Given the description of an element on the screen output the (x, y) to click on. 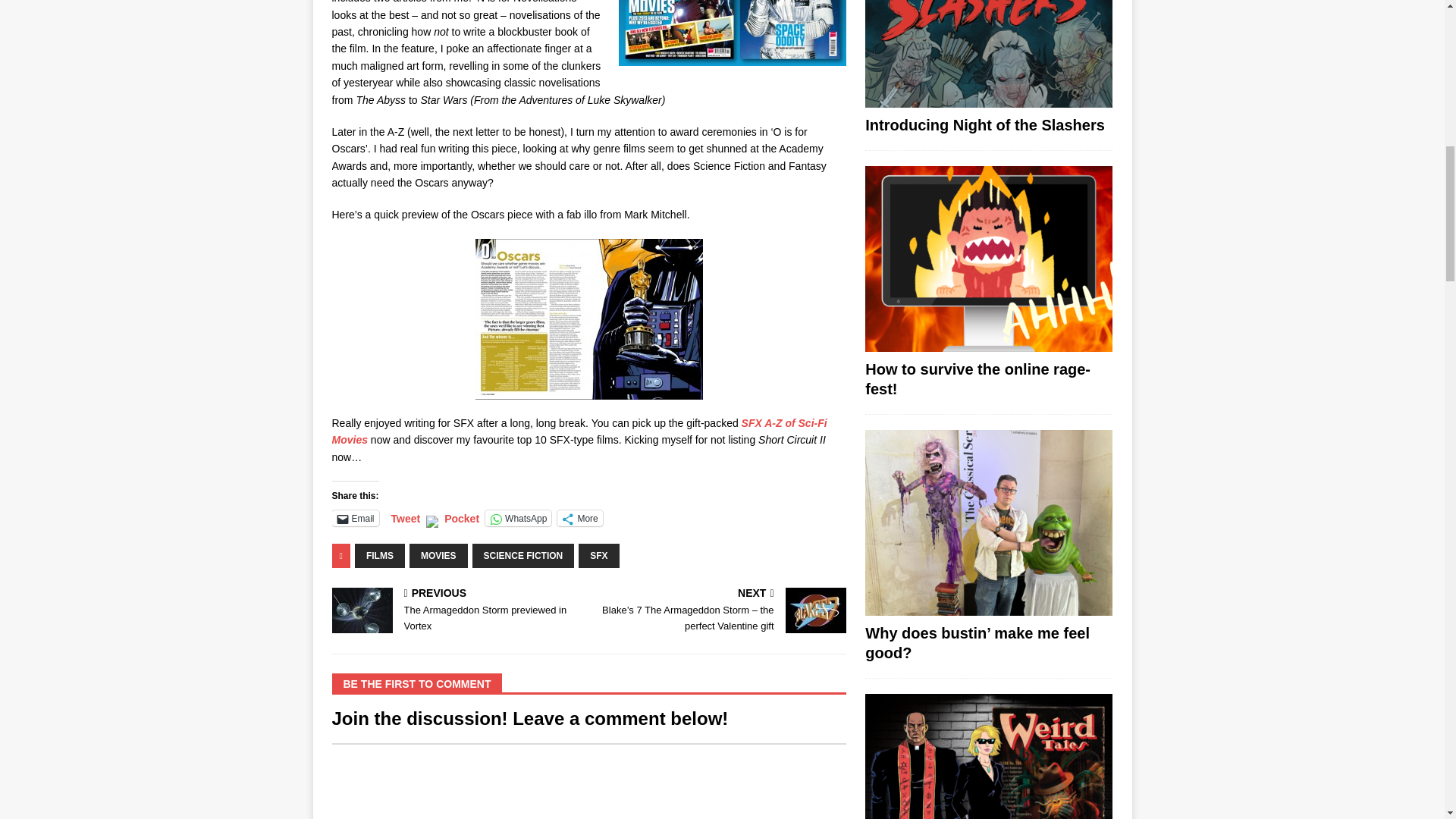
SCIENCE FICTION (523, 555)
MOVIES (438, 555)
Click to share on WhatsApp (457, 611)
Email (517, 518)
Click to email a link to a friend (354, 518)
FILMS (354, 518)
WhatsApp (379, 555)
SFX (517, 518)
Tweet (598, 555)
